Given the description of an element on the screen output the (x, y) to click on. 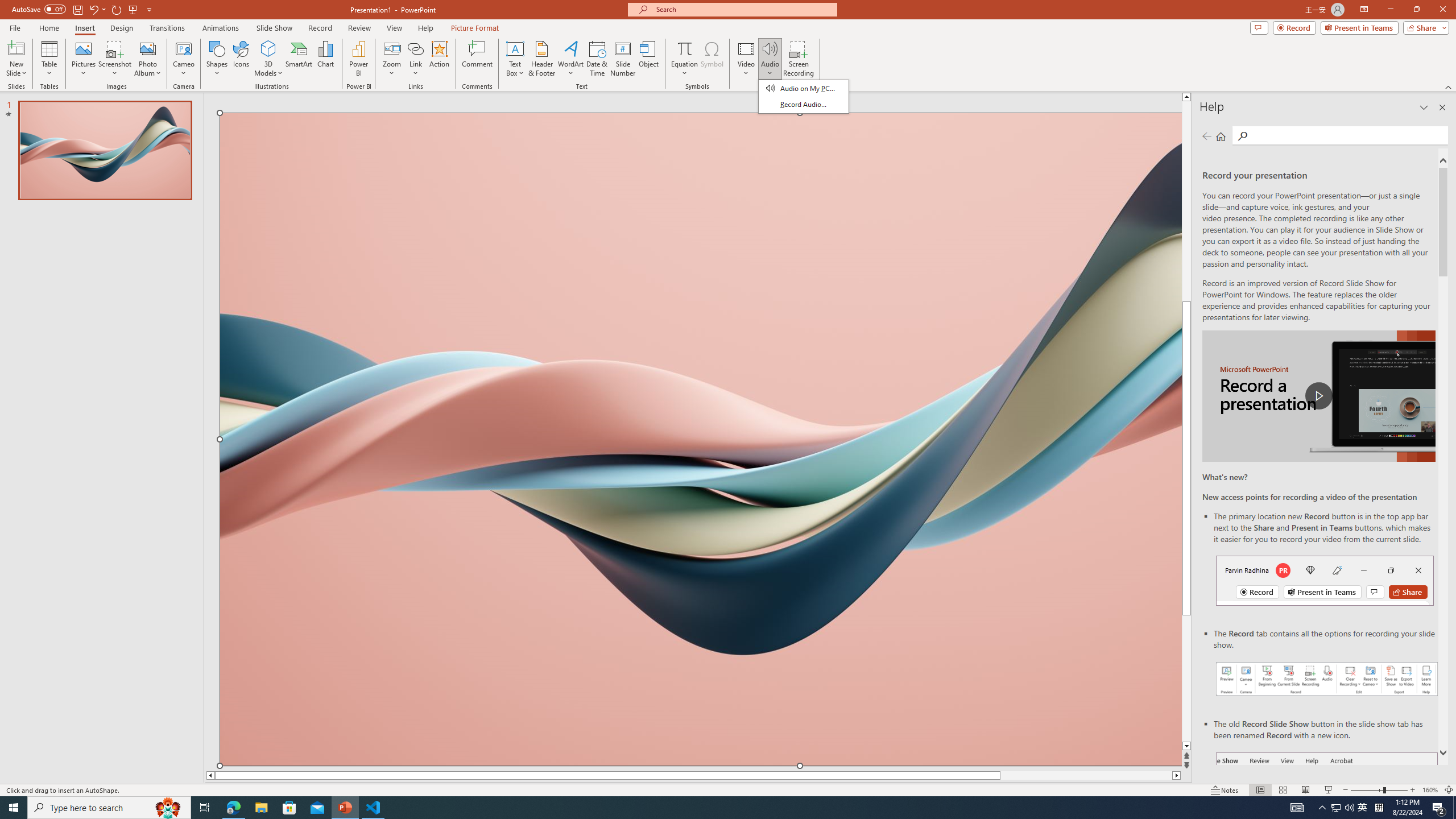
Symbol... (711, 58)
Table (49, 58)
Zoom 160% (1430, 790)
Screen Recording... (798, 58)
